Given the description of an element on the screen output the (x, y) to click on. 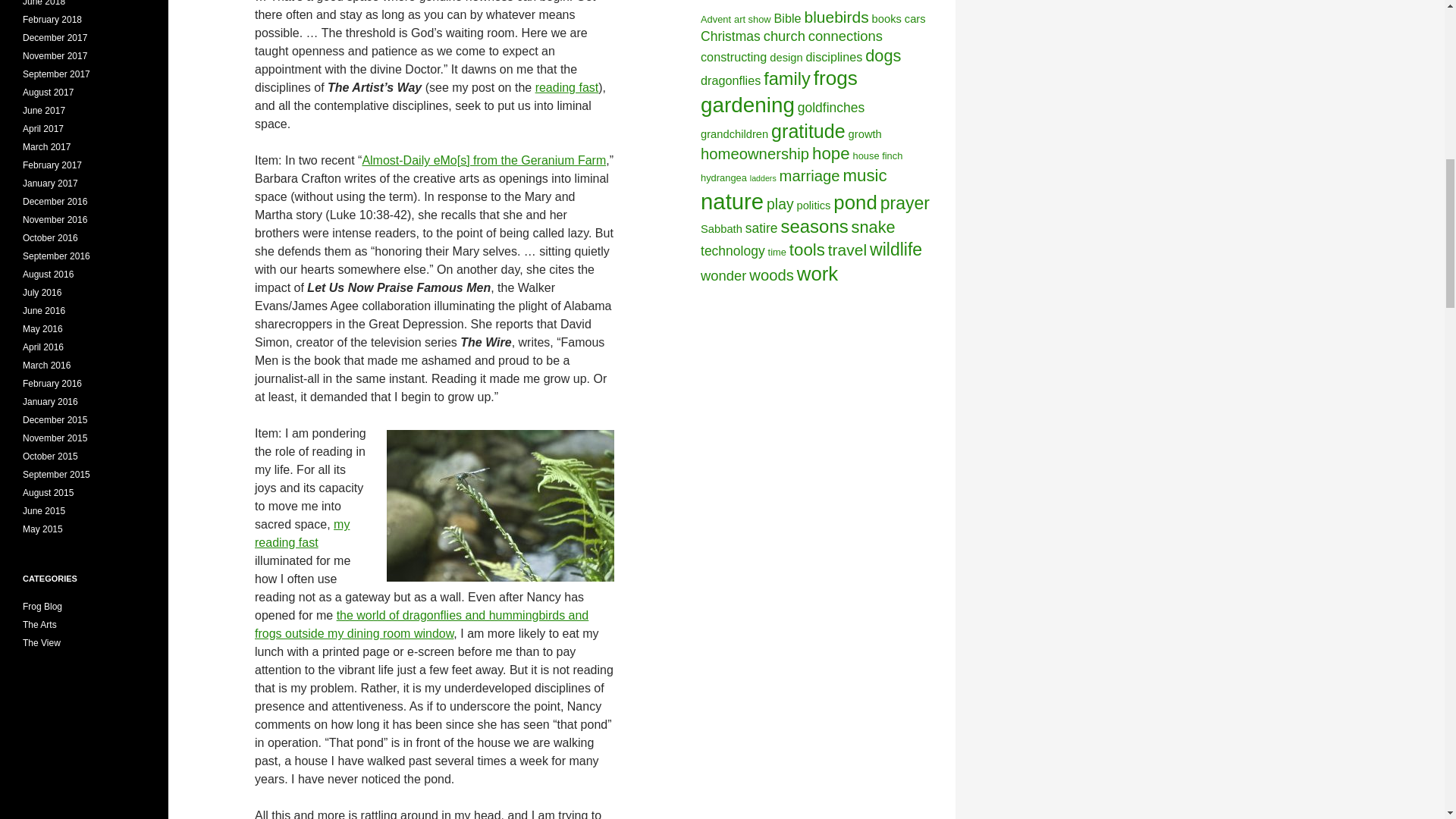
my reading fast (301, 532)
reading fast (566, 87)
